Given the description of an element on the screen output the (x, y) to click on. 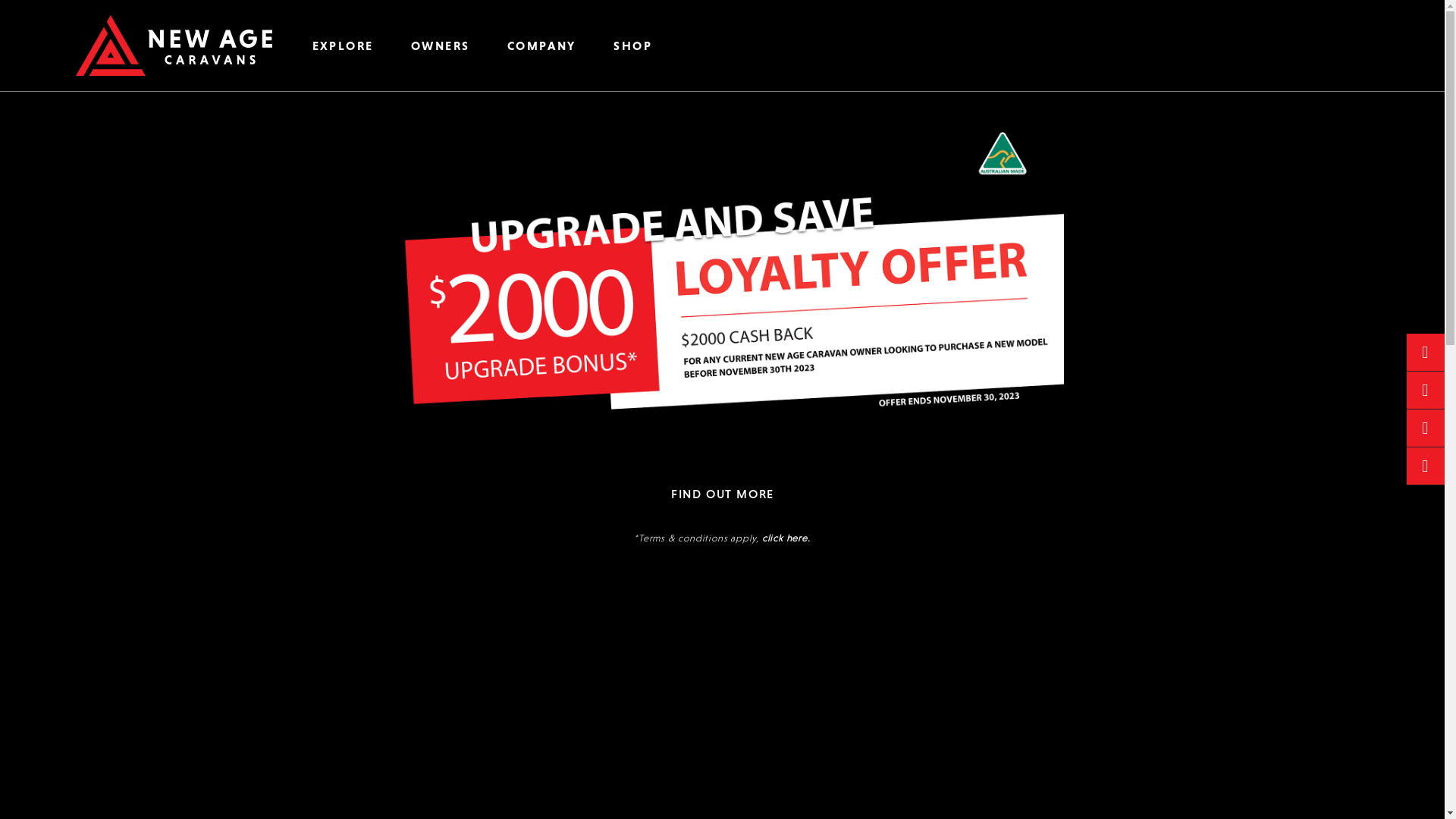
COMPANY Element type: text (541, 45)
FIND OUT MORE Element type: text (721, 493)
SHOP Element type: text (633, 45)
click here. Element type: text (786, 537)
EXPLORE Element type: text (342, 45)
OWNERS Element type: text (440, 45)
